Given the description of an element on the screen output the (x, y) to click on. 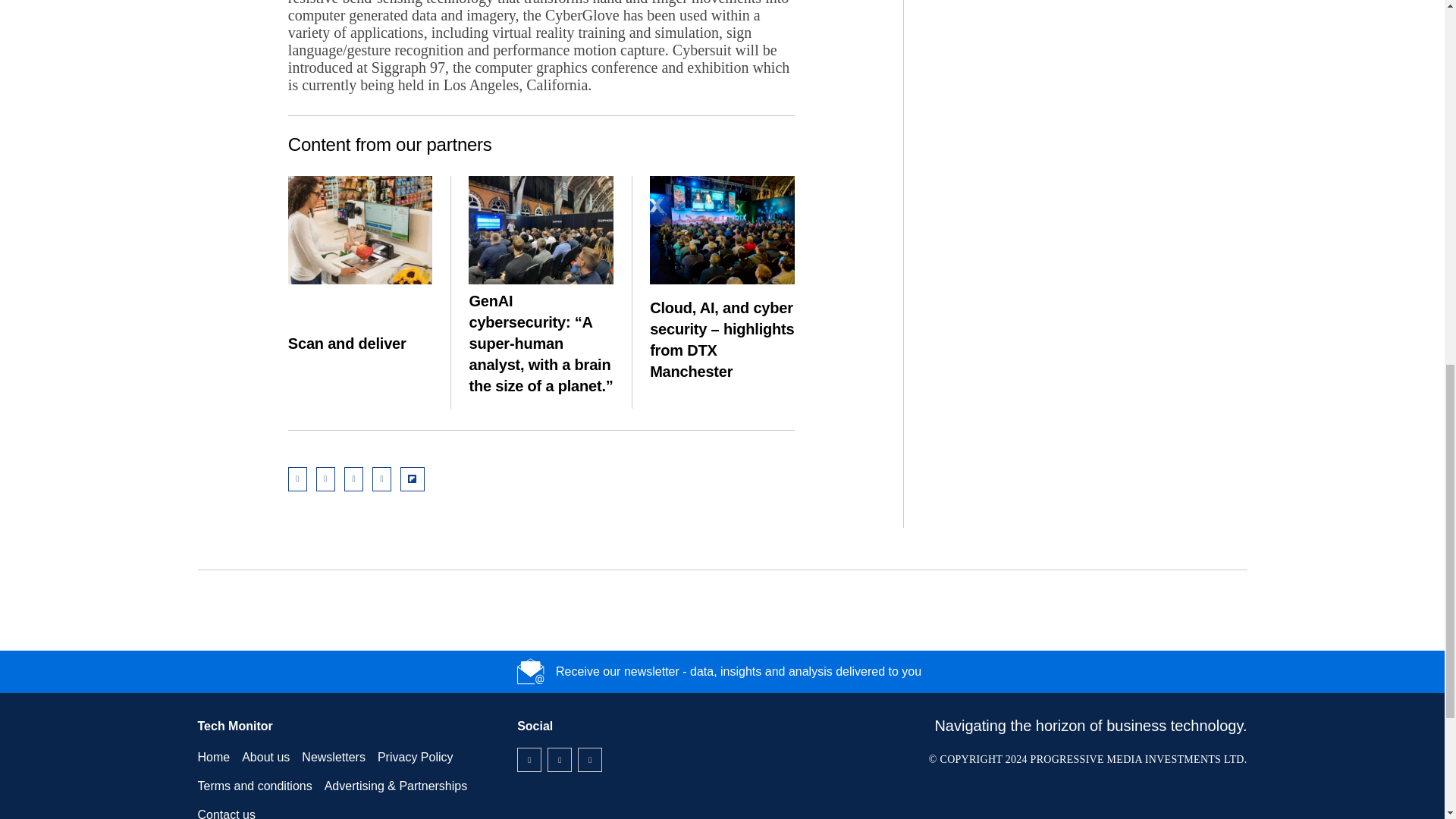
Scan and deliver (360, 230)
